Given the description of an element on the screen output the (x, y) to click on. 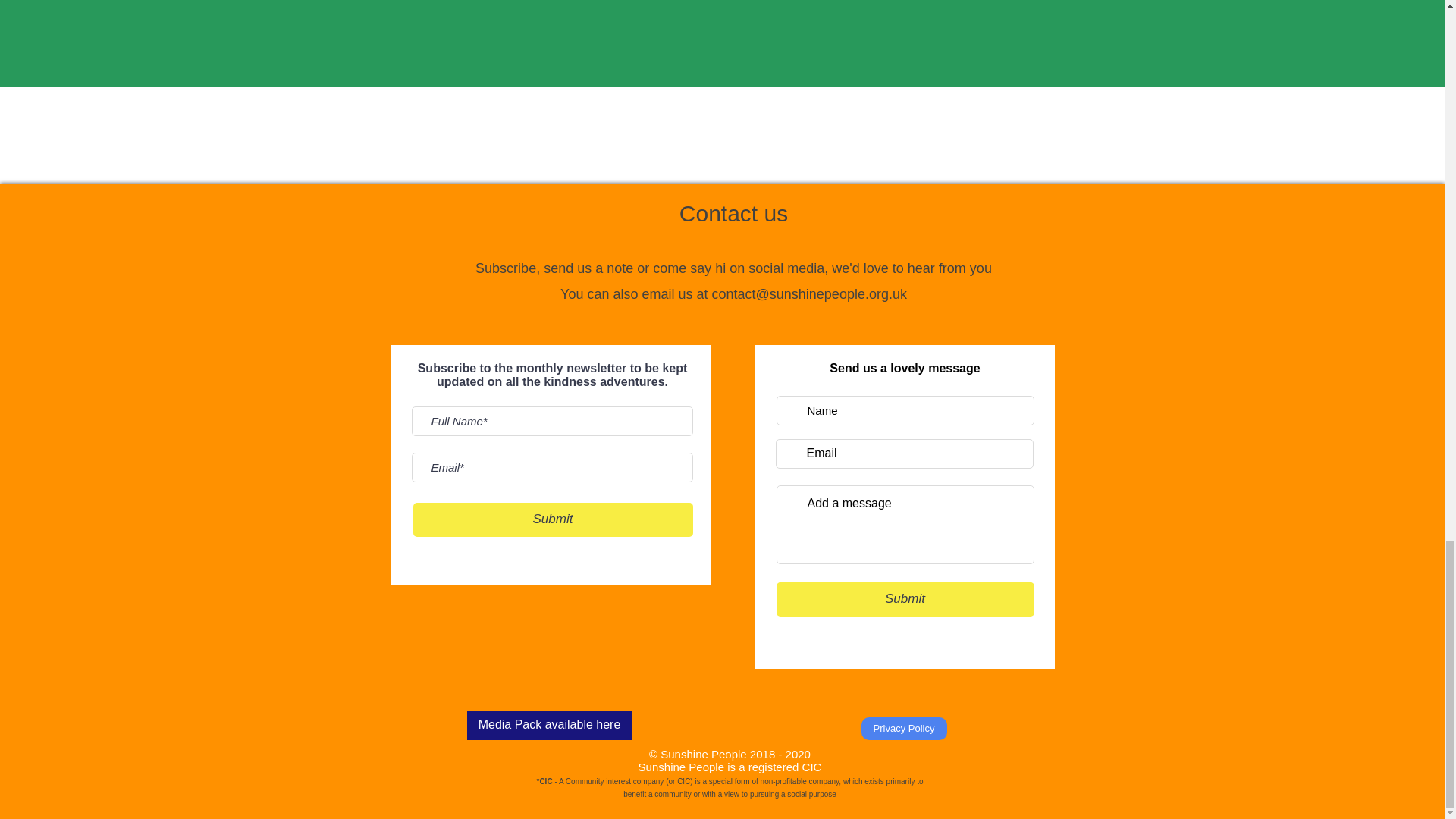
Submit (552, 519)
Submit (904, 599)
Privacy Policy (904, 728)
Media Pack available here (549, 725)
